Given the description of an element on the screen output the (x, y) to click on. 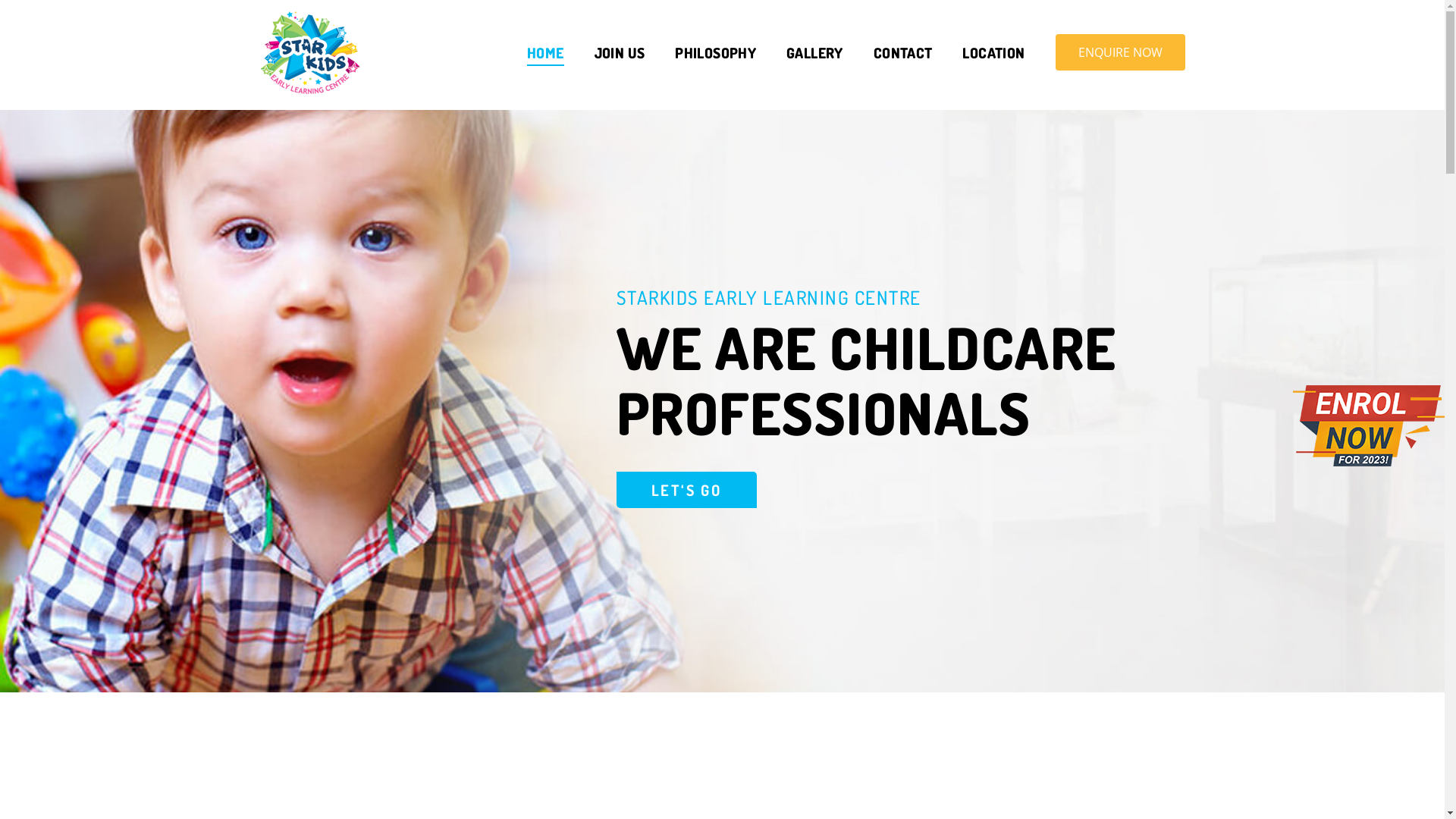
GALLERY Element type: text (814, 53)
LOCATION Element type: text (993, 53)
PHILOSOPHY Element type: text (715, 53)
HOME Element type: text (545, 53)
ENQUIRE NOW Element type: text (1120, 52)
CONTACT Element type: text (902, 53)
JOIN US Element type: text (619, 53)
